Given the description of an element on the screen output the (x, y) to click on. 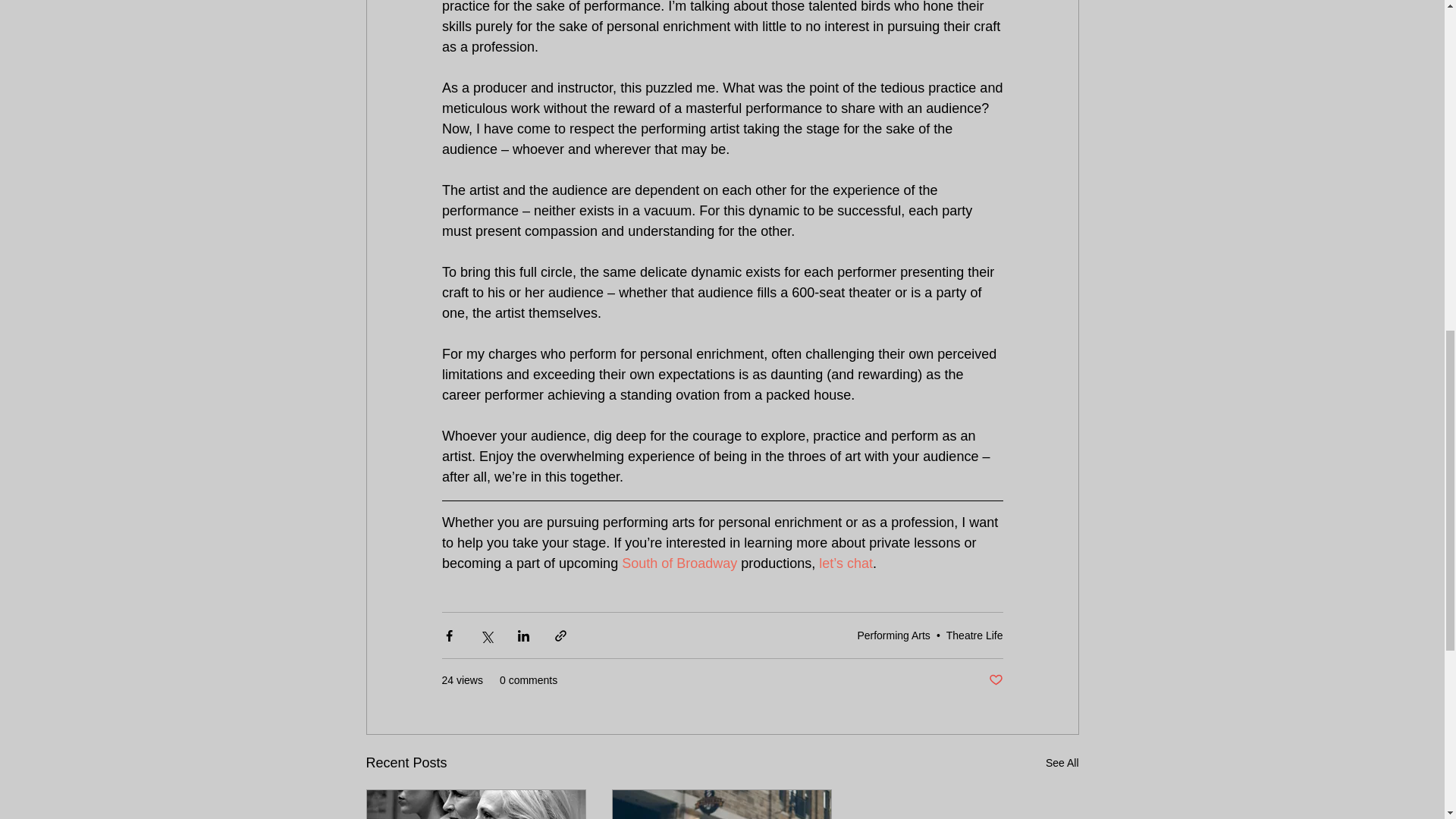
South of Broadway (678, 563)
See All (1061, 762)
Performing Arts (893, 635)
Post not marked as liked (995, 680)
Theatre Life (974, 635)
